Given the description of an element on the screen output the (x, y) to click on. 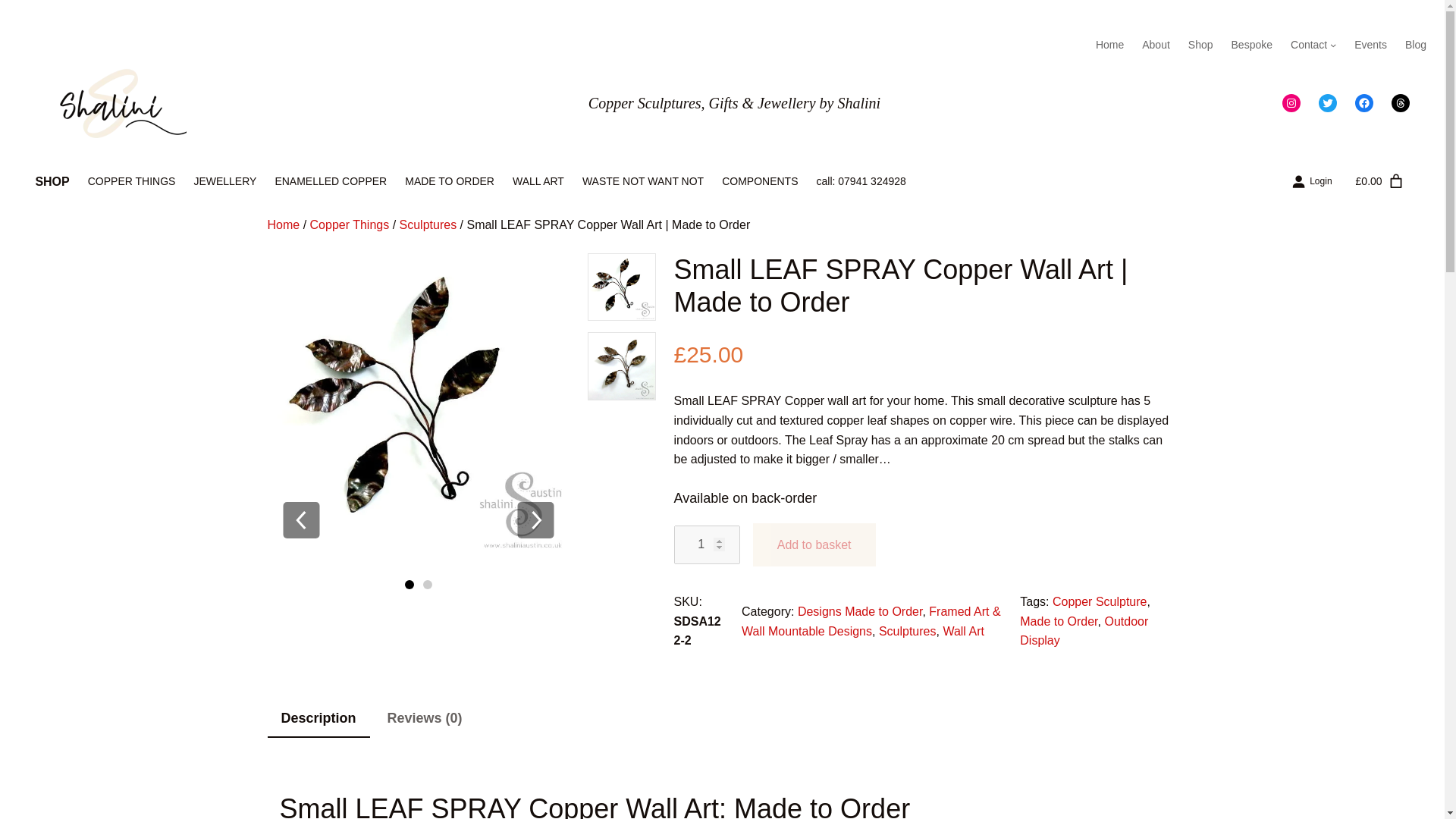
MADE TO ORDER (449, 180)
JEWELLERY (224, 180)
Copper Things (350, 224)
Shop (1200, 44)
Sculptures (427, 224)
Login (1309, 181)
Home (282, 224)
Facebook (1364, 103)
ENAMELLED COPPER (331, 180)
Contact (1308, 44)
